Given the description of an element on the screen output the (x, y) to click on. 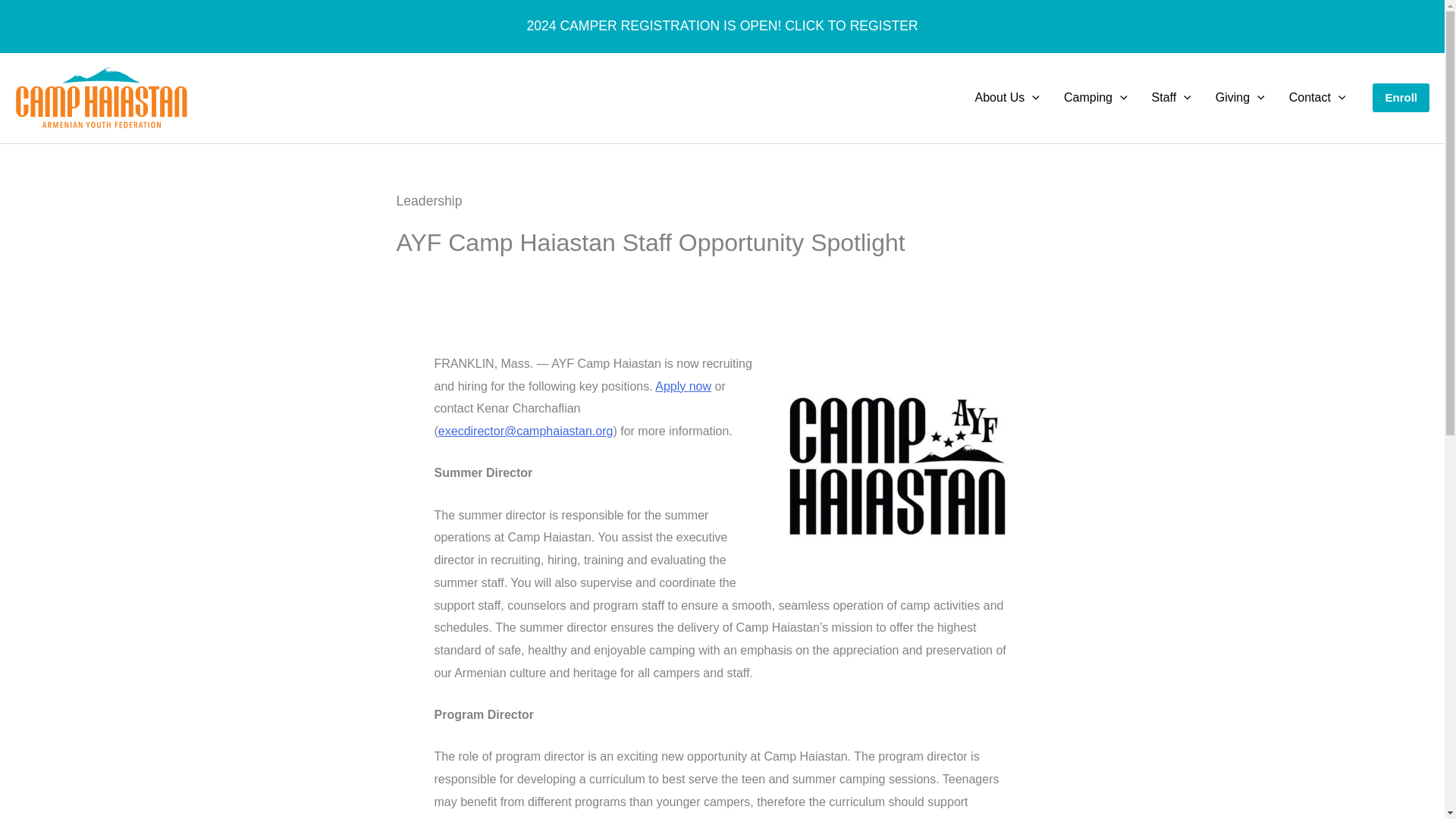
2024 CAMPER REGISTRATION IS OPEN! CLICK TO REGISTER (721, 25)
About Us (1006, 97)
Giving (1240, 97)
Camping (1095, 97)
Staff (1172, 97)
Enroll (1401, 98)
Contact (1317, 97)
2024 CAMPER REGISTRATION IS OPEN! CLICK TO REGISTER (721, 25)
